Given the description of an element on the screen output the (x, y) to click on. 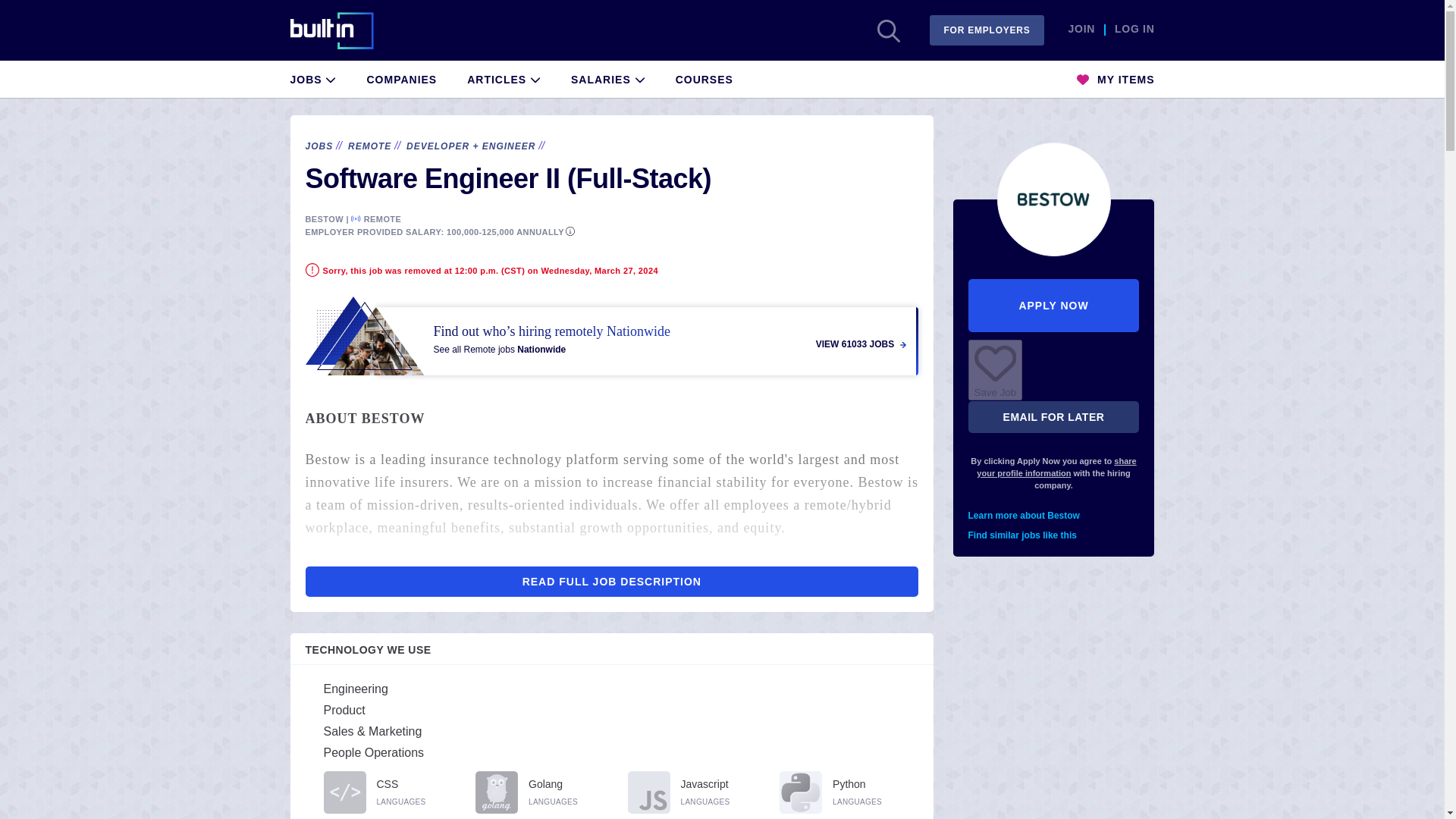
JOIN (1081, 29)
BESTOW (323, 218)
COMPANIES (401, 77)
SALARIES (607, 77)
View 61033 Jobs (611, 335)
COURSES (704, 77)
Built In National (341, 30)
REMOTE (369, 146)
JOBS (312, 77)
JOBS (318, 146)
ARTICLES (503, 77)
LOG IN (1134, 29)
MY ITEMS (1115, 77)
FOR EMPLOYERS (986, 30)
